Given the description of an element on the screen output the (x, y) to click on. 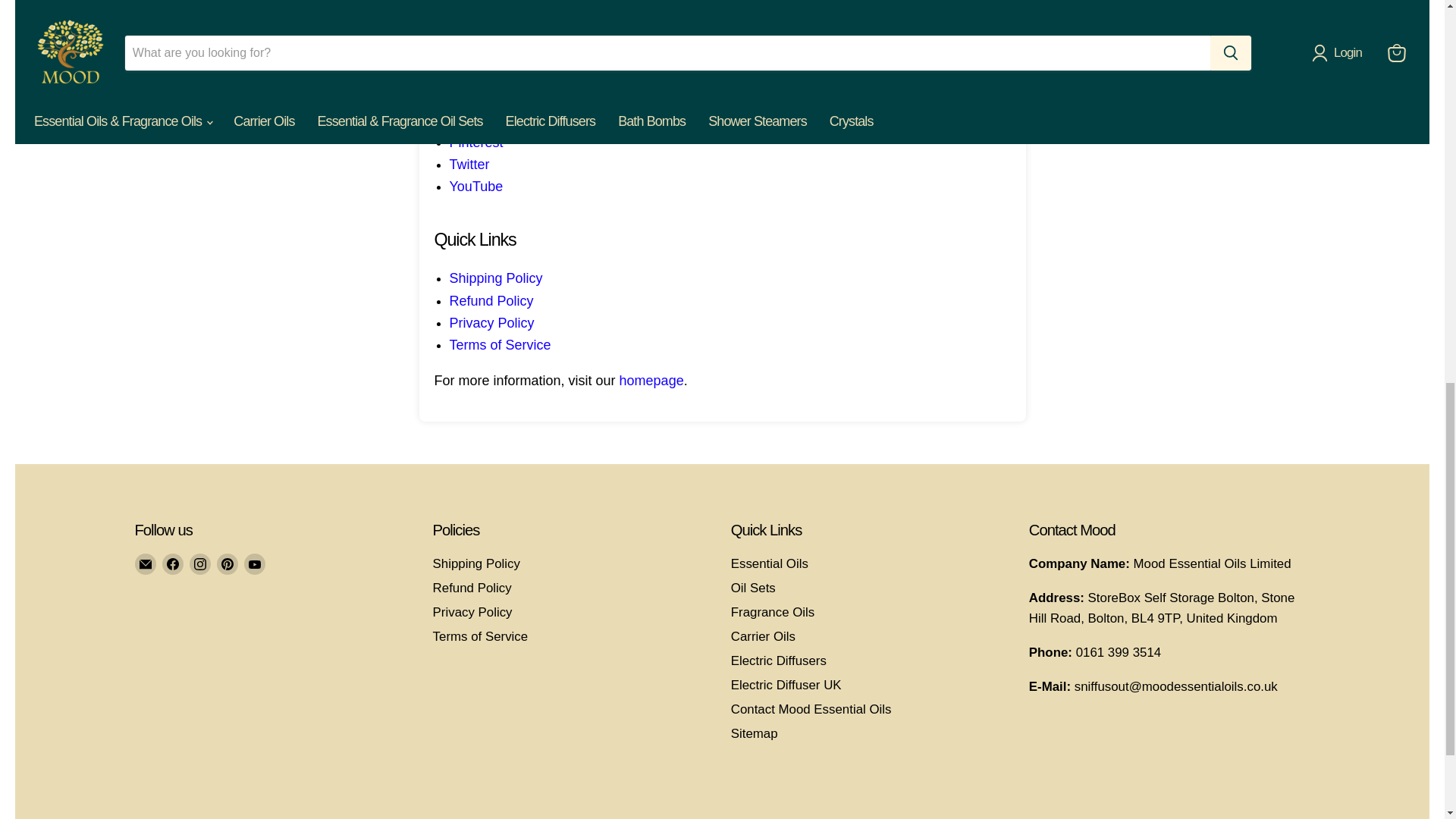
Instagram (200, 563)
YouTube (254, 563)
Pinterest (227, 563)
Facebook (172, 563)
Email (145, 563)
